Given the description of an element on the screen output the (x, y) to click on. 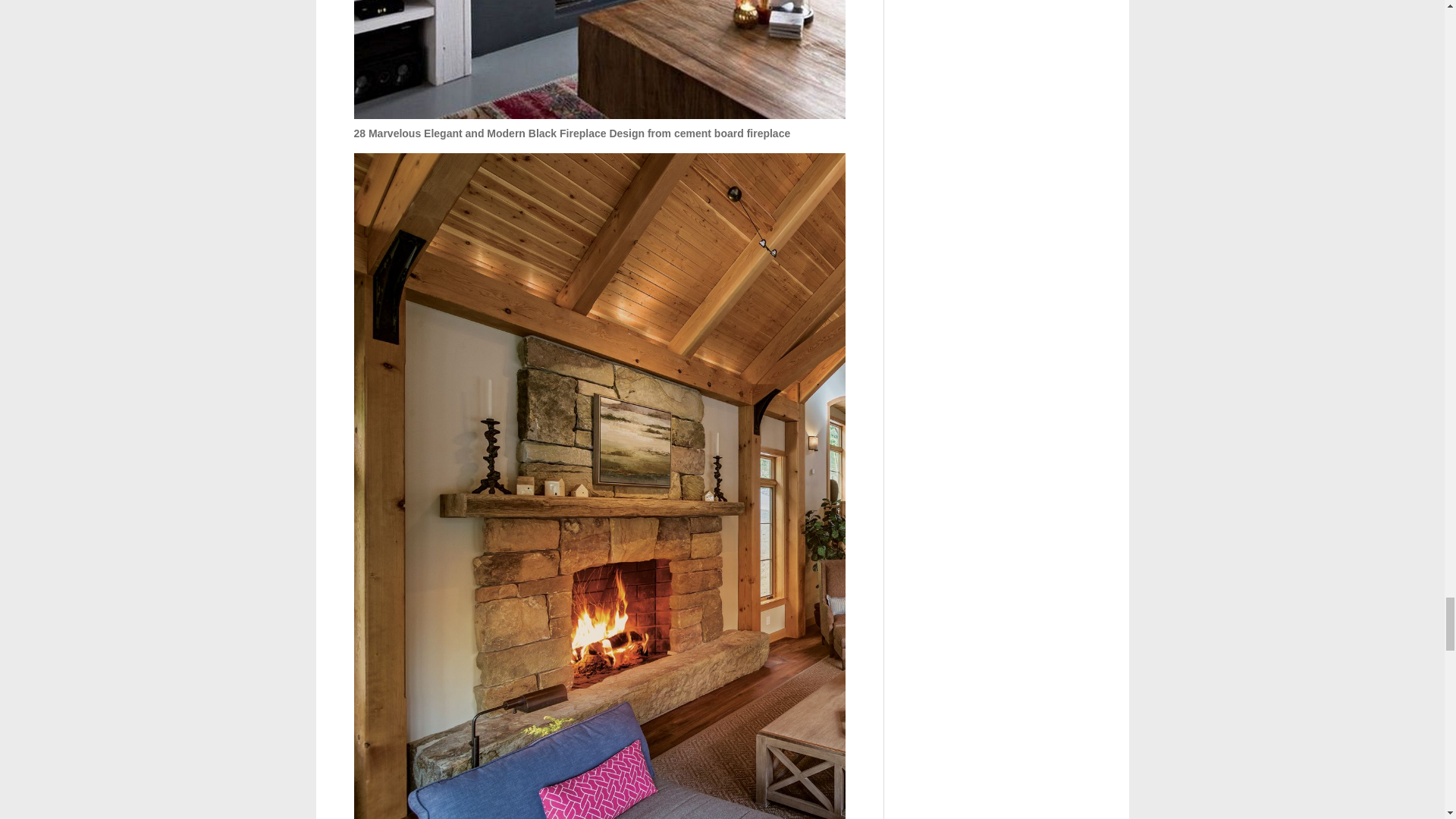
28 Marvelous Elegant and Modern Black Fireplace Design (598, 59)
